Given the description of an element on the screen output the (x, y) to click on. 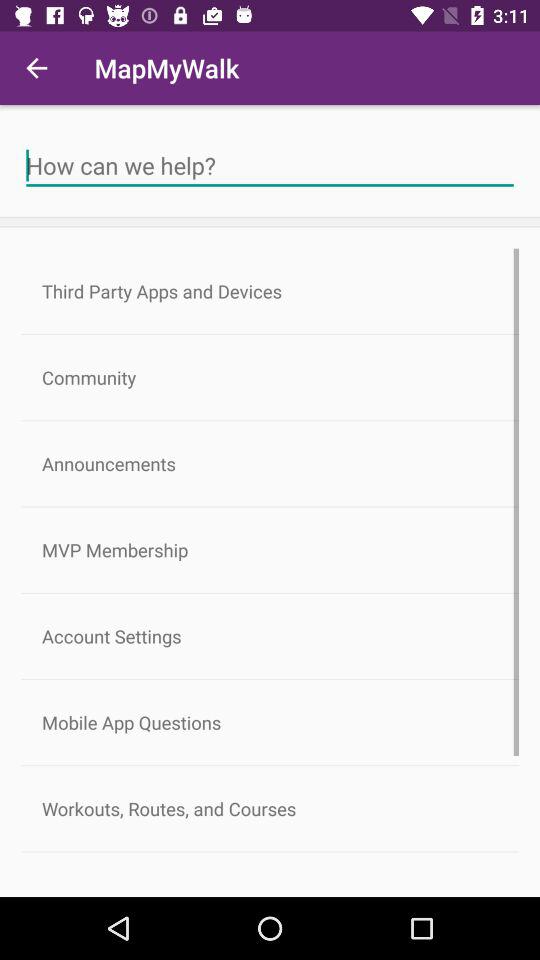
click account settings icon (269, 635)
